Given the description of an element on the screen output the (x, y) to click on. 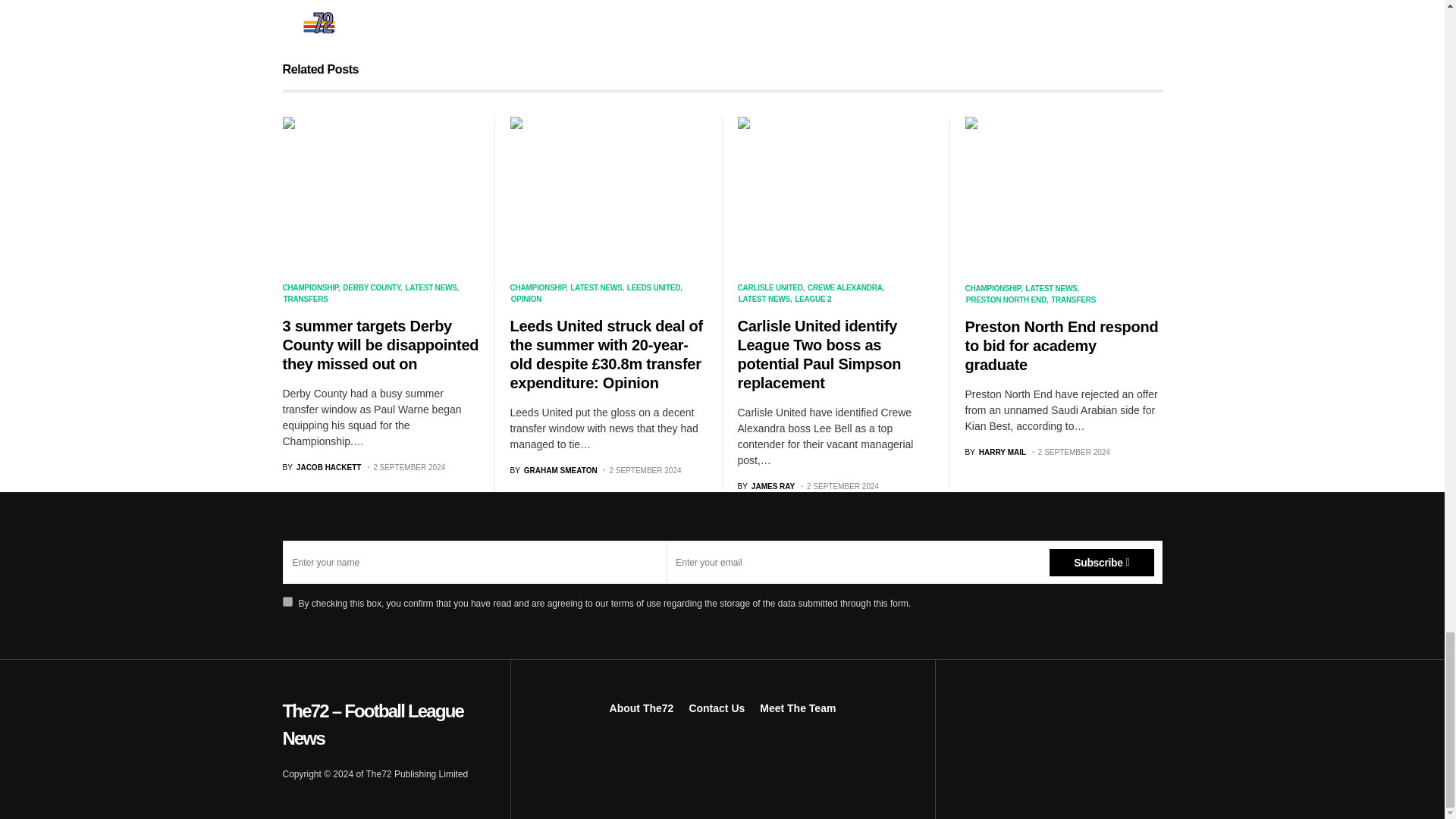
View all posts by Harry Mail (994, 451)
View all posts by Graham Smeaton (552, 470)
on (287, 601)
View all posts by Jacob Hackett (321, 467)
View all posts by James Ray (765, 486)
